Given the description of an element on the screen output the (x, y) to click on. 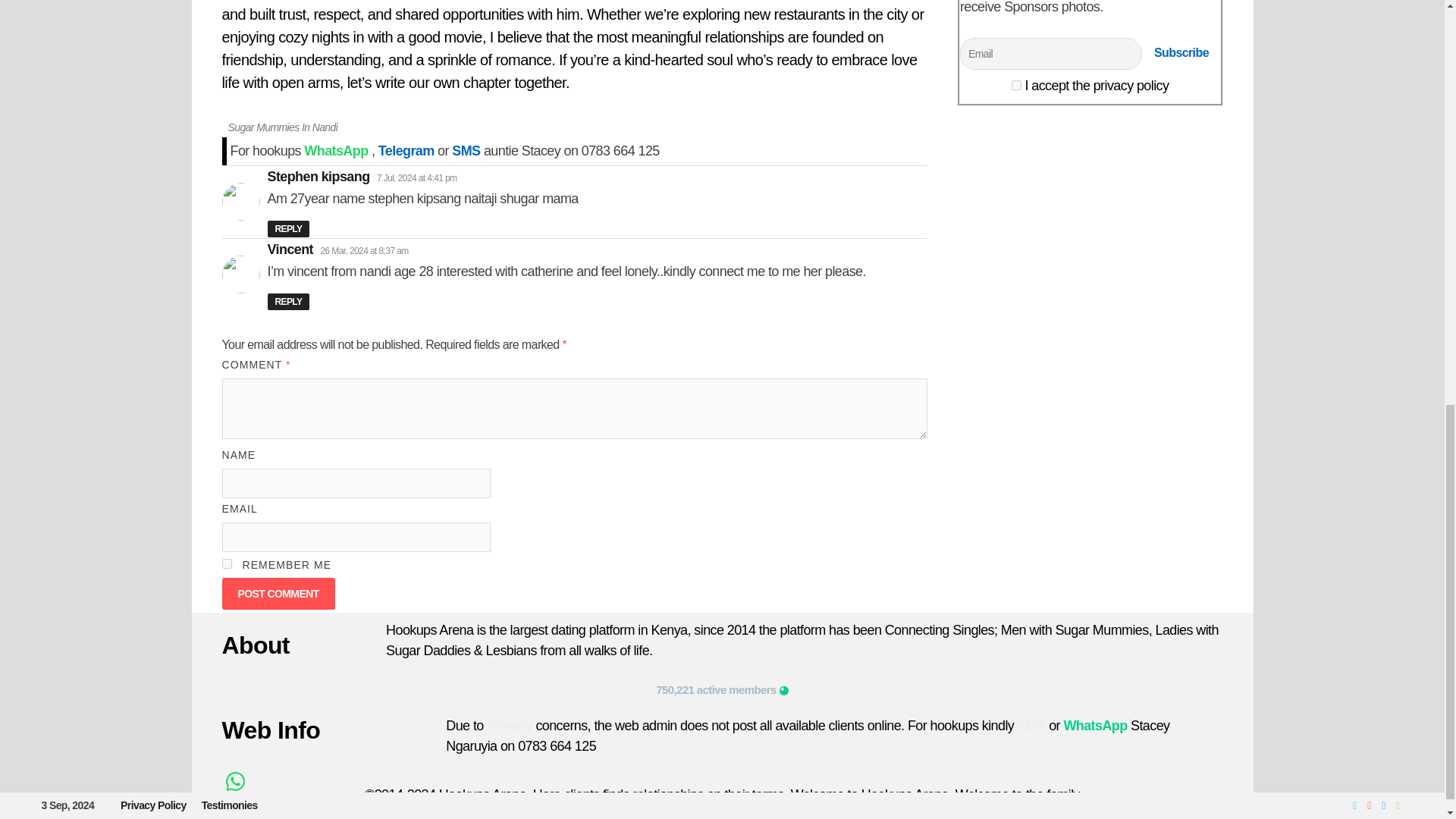
SMS (465, 150)
REPLY (287, 228)
Telegram (405, 150)
REPLY (287, 301)
26 Mar, 2024 at 8:37 am (363, 250)
on (1016, 85)
yes (226, 563)
Subscribe (1181, 52)
Post Comment (277, 593)
WhatsApp (336, 150)
